Given the description of an element on the screen output the (x, y) to click on. 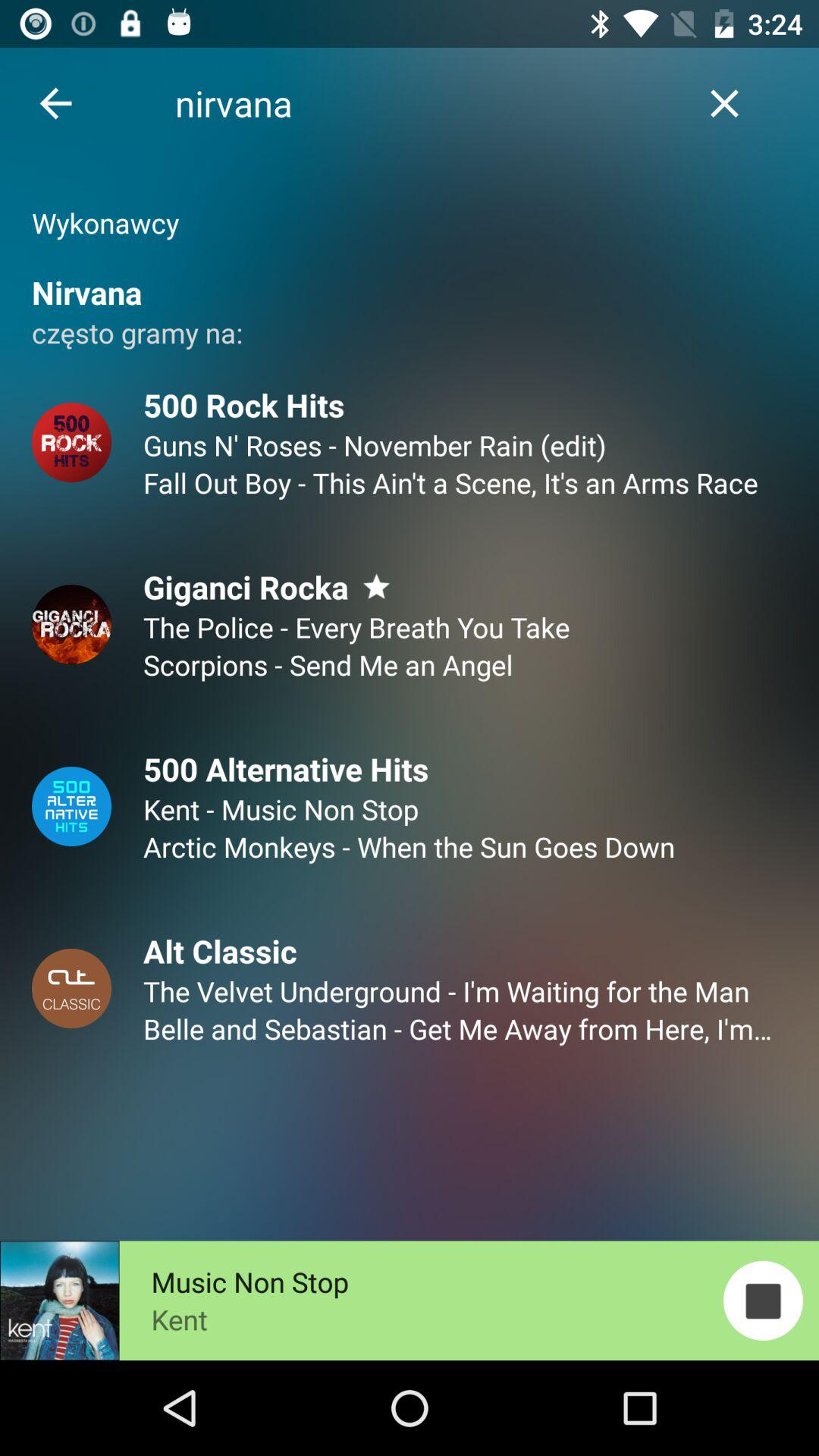
open icon above wykonawcy (55, 103)
